Given the description of an element on the screen output the (x, y) to click on. 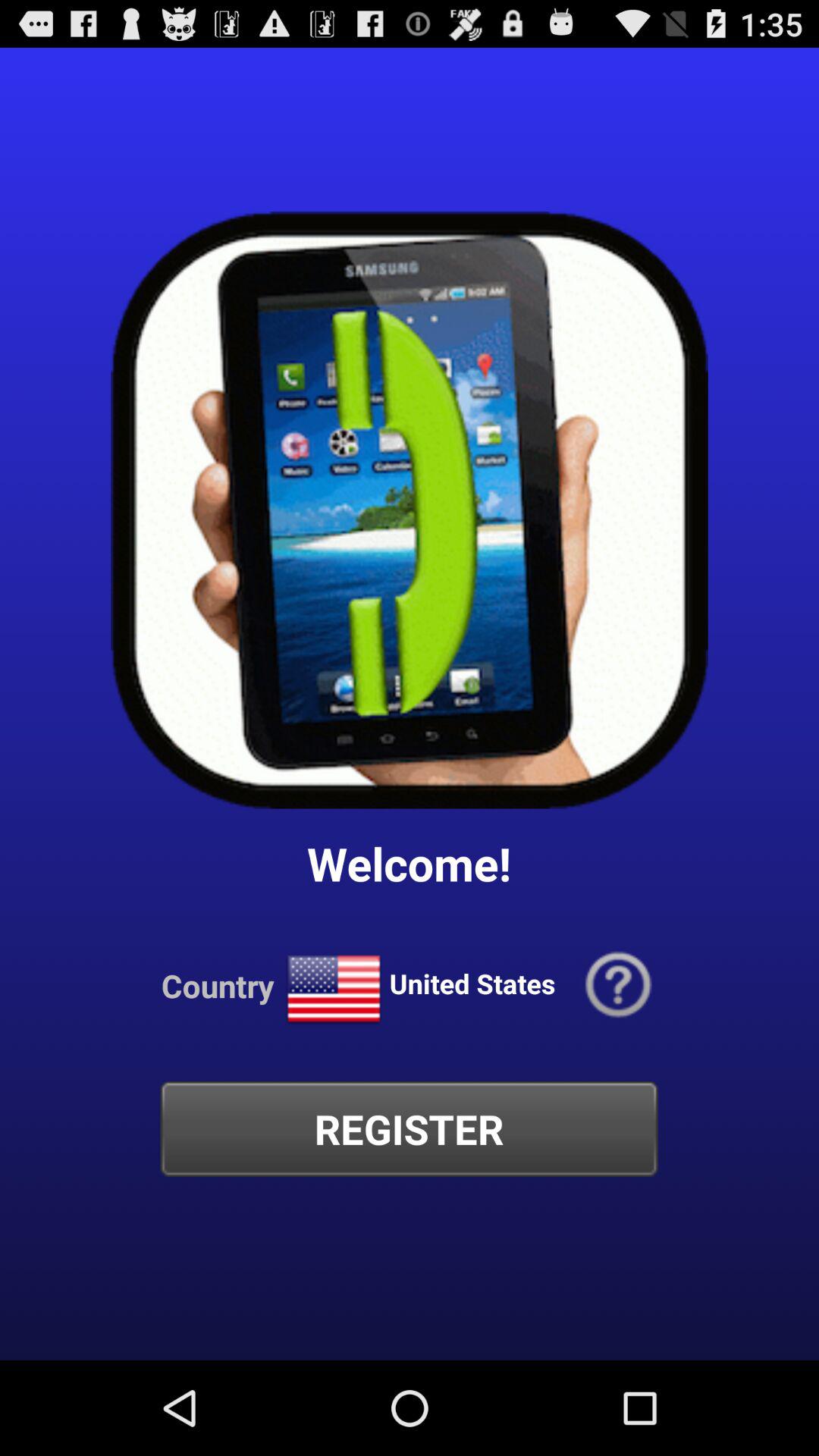
press icon next to the country icon (333, 989)
